Given the description of an element on the screen output the (x, y) to click on. 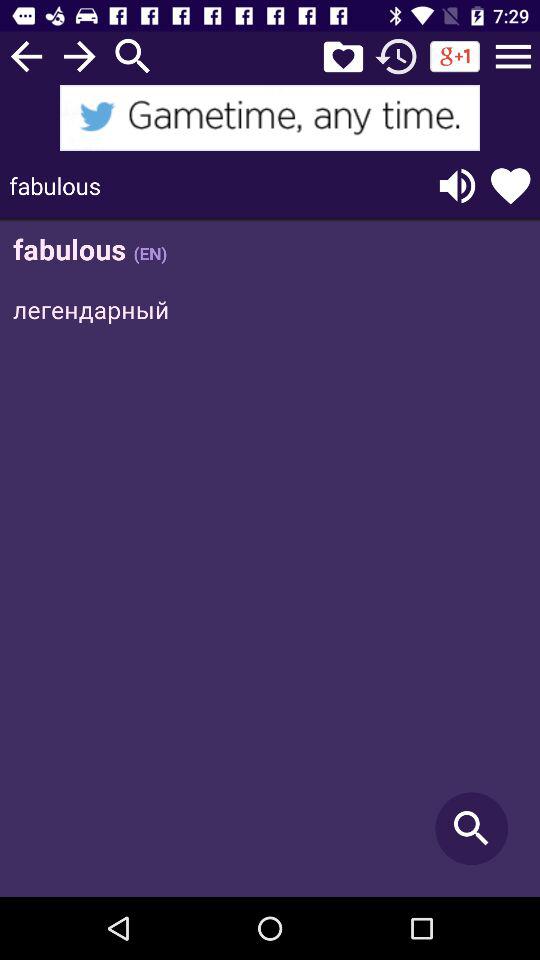
share the article (270, 117)
